Given the description of an element on the screen output the (x, y) to click on. 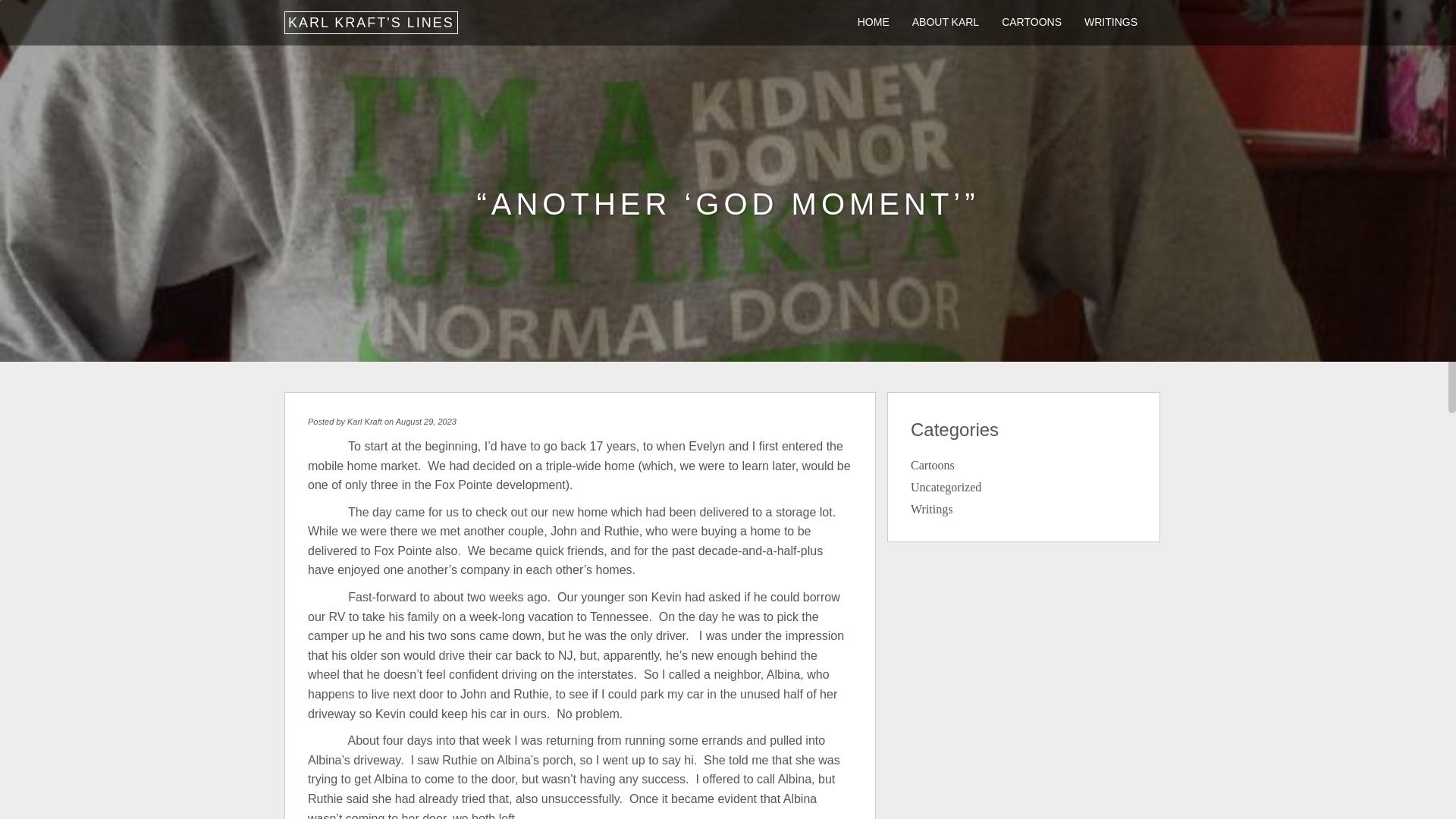
Karl Kraft (364, 420)
HOME (873, 17)
WRITINGS (1110, 17)
About Karl (945, 17)
Cartoons (1031, 17)
Cartoons (933, 464)
CARTOONS (1031, 17)
Home (873, 17)
Writings (931, 508)
Uncategorized (946, 486)
ABOUT KARL (945, 17)
Writings (1110, 17)
KARL KRAFT'S LINES (370, 22)
Posts by Karl Kraft (364, 420)
